Given the description of an element on the screen output the (x, y) to click on. 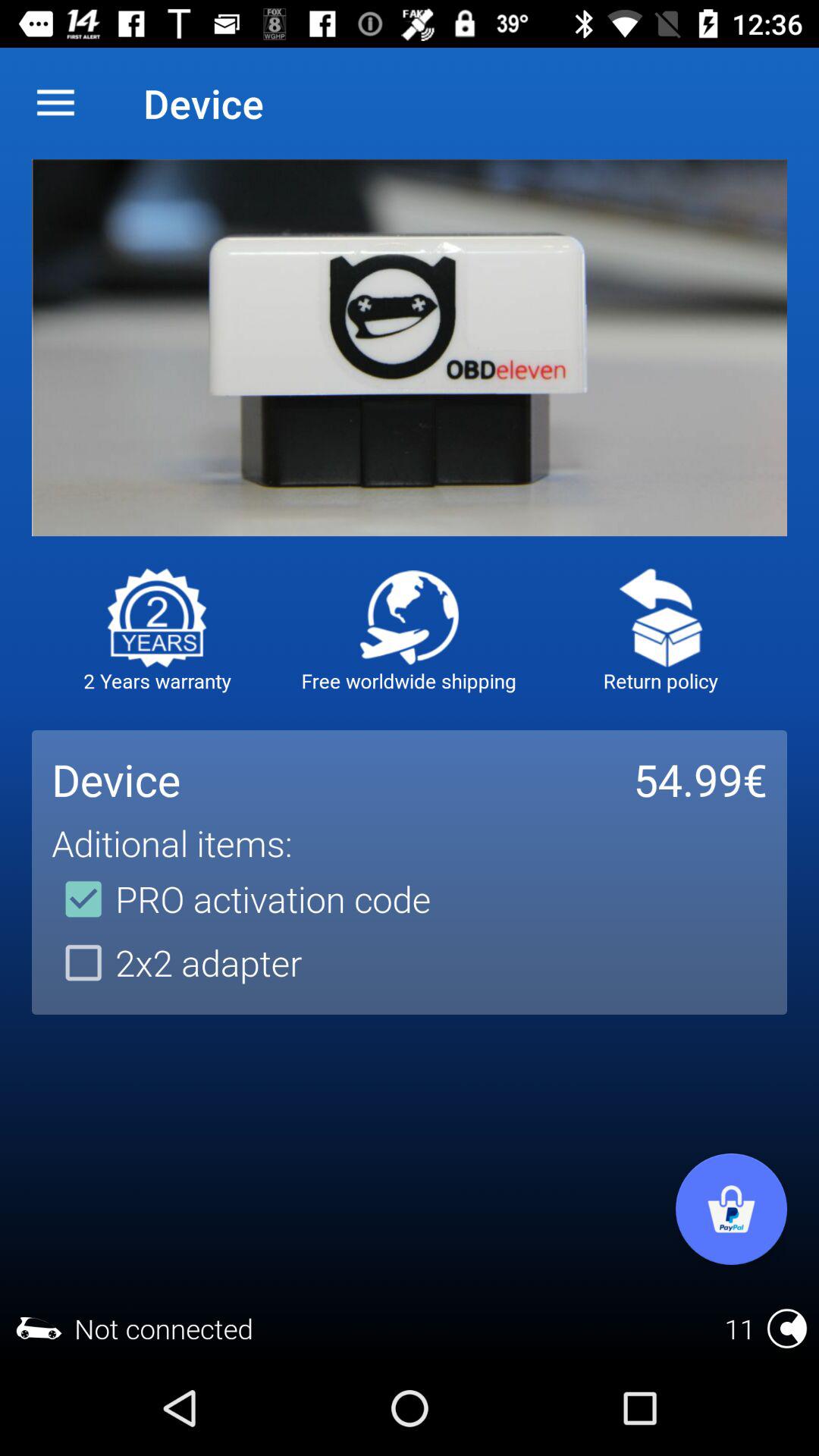
payment option paypal button ordering (731, 1208)
